Given the description of an element on the screen output the (x, y) to click on. 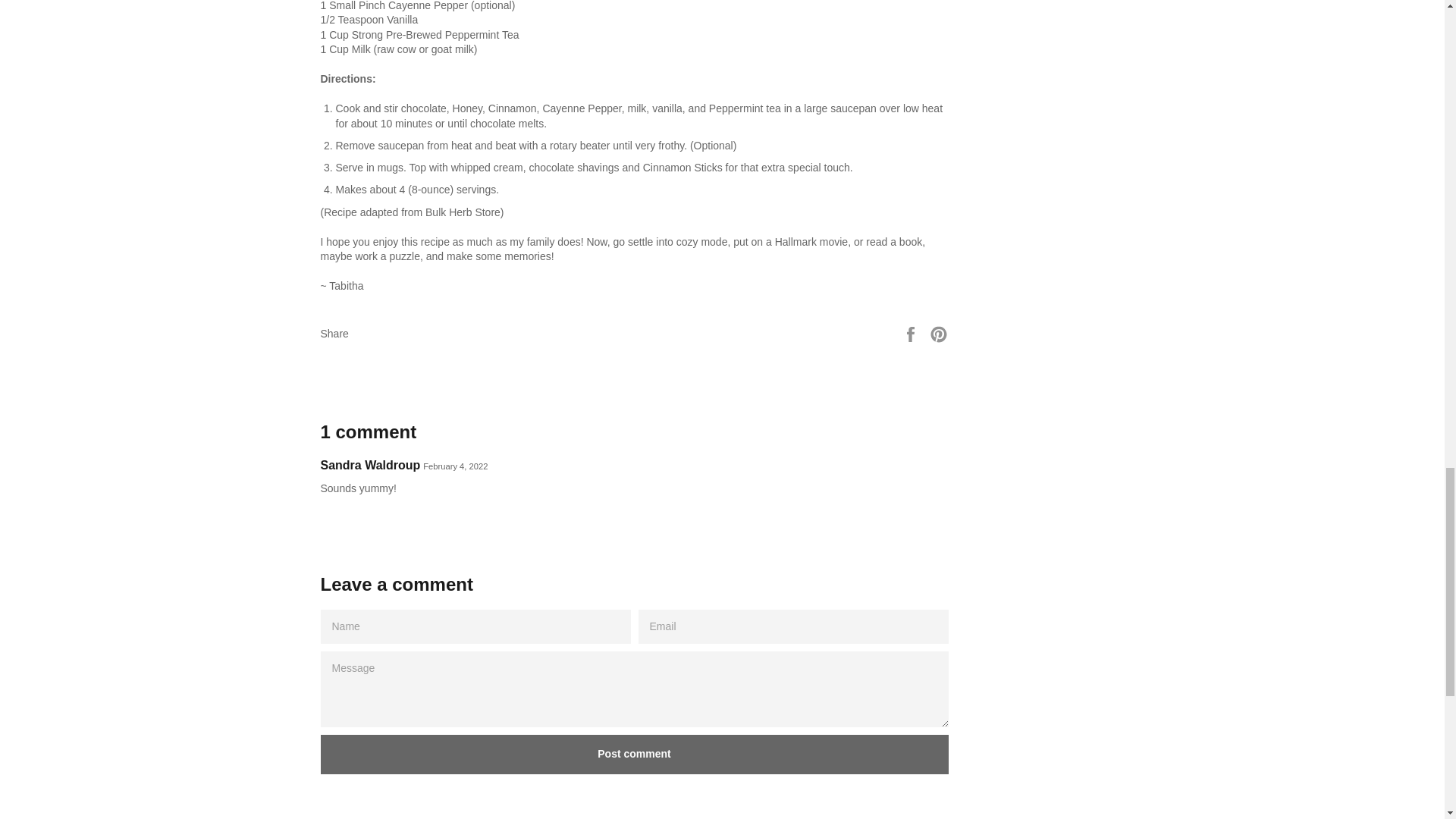
Post comment (633, 753)
Share on Facebook (912, 332)
Pin on Pinterest (938, 332)
Share on Facebook (912, 332)
Pin on Pinterest (938, 332)
Post comment (633, 753)
